Given the description of an element on the screen output the (x, y) to click on. 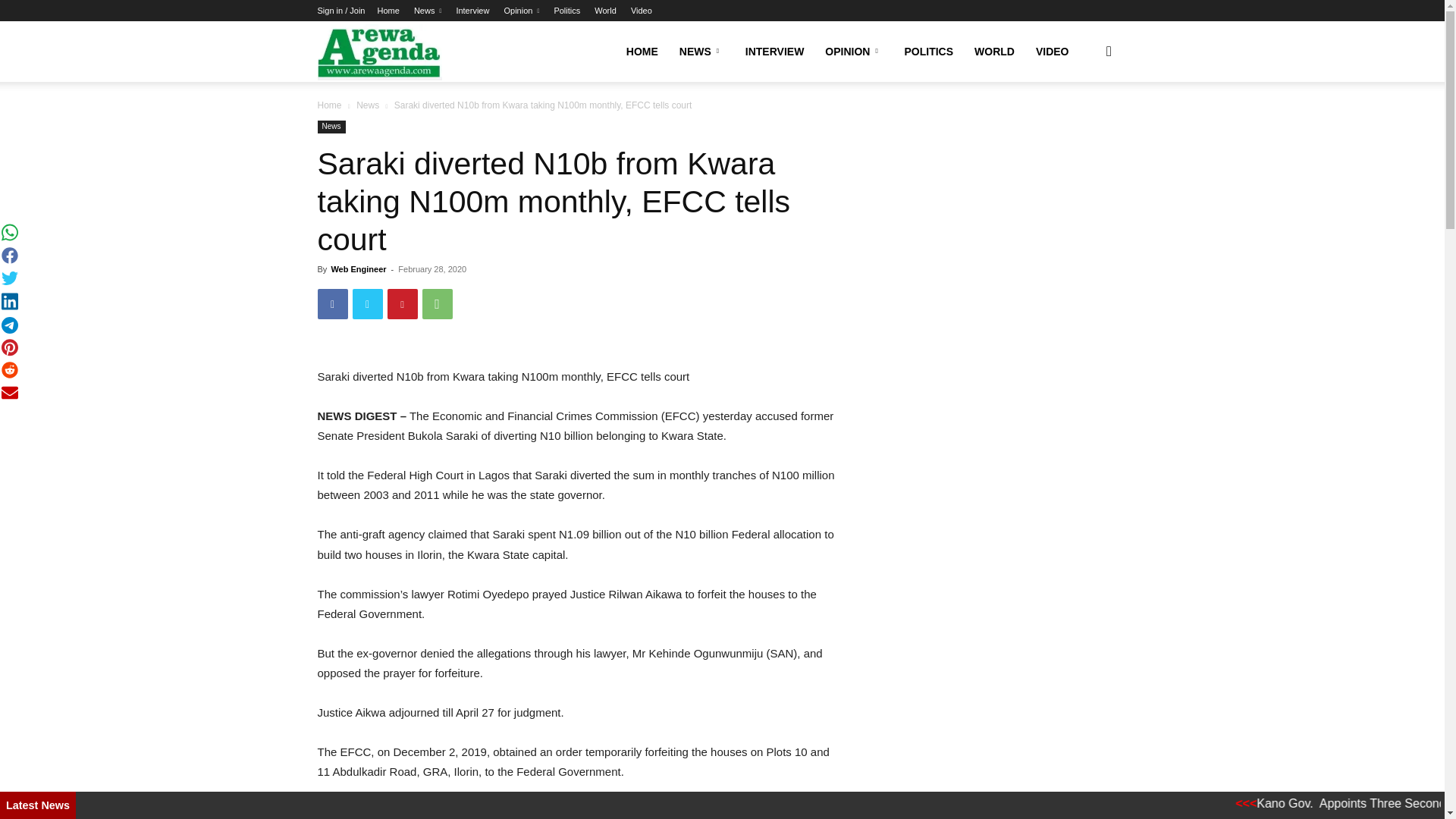
Pinterest (401, 304)
Video (641, 10)
View all posts in News (367, 104)
World (604, 10)
Politics (566, 10)
Opinion (520, 10)
Interview (472, 10)
Facebook (332, 304)
News (427, 10)
WhatsApp (436, 304)
Search (1085, 124)
Arewa Agenda (379, 51)
Home (387, 10)
Twitter (366, 304)
